Given the description of an element on the screen output the (x, y) to click on. 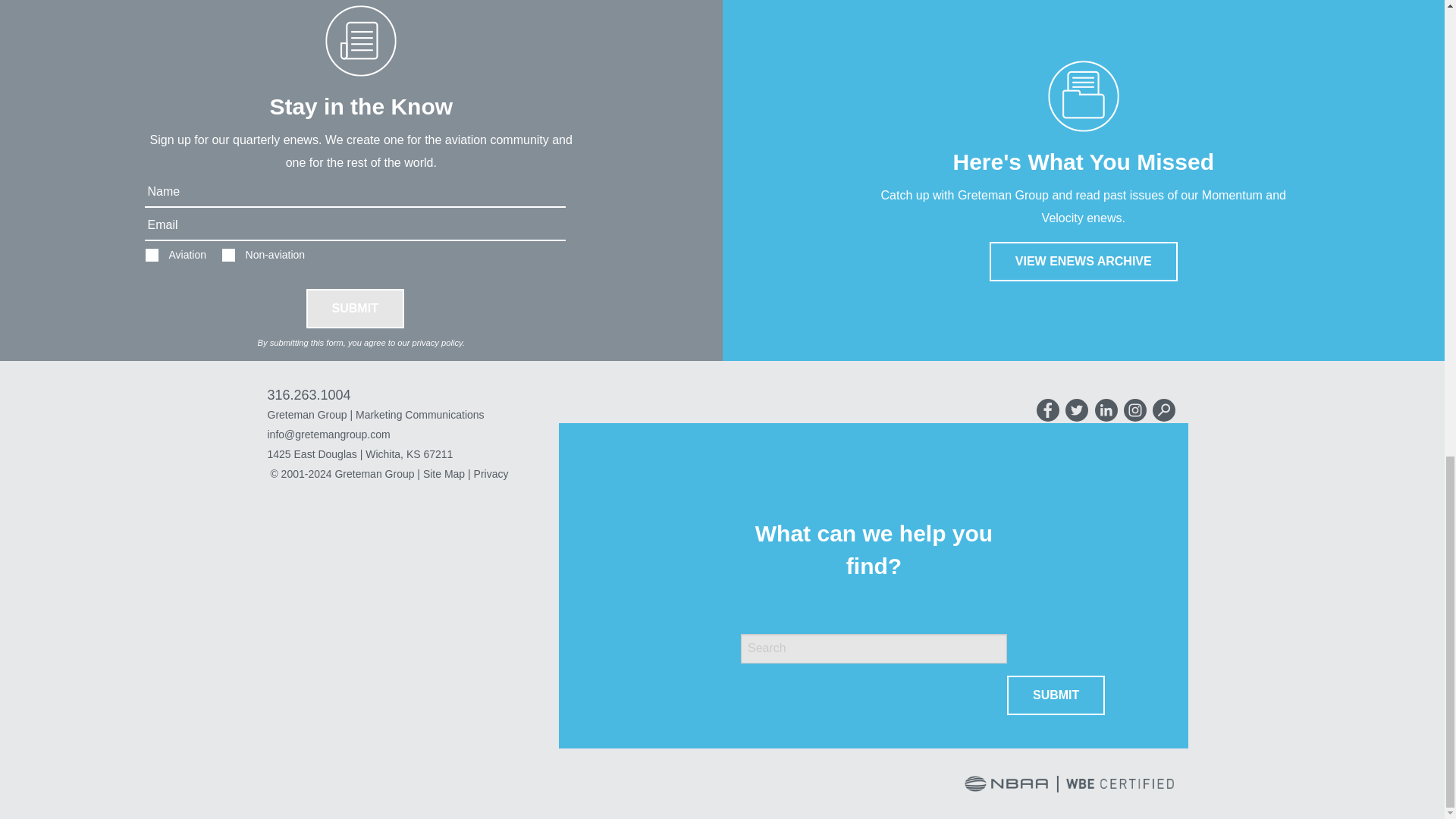
Click to Call Greteman Group (308, 394)
Submit (1056, 694)
Submit (354, 308)
